Given the description of an element on the screen output the (x, y) to click on. 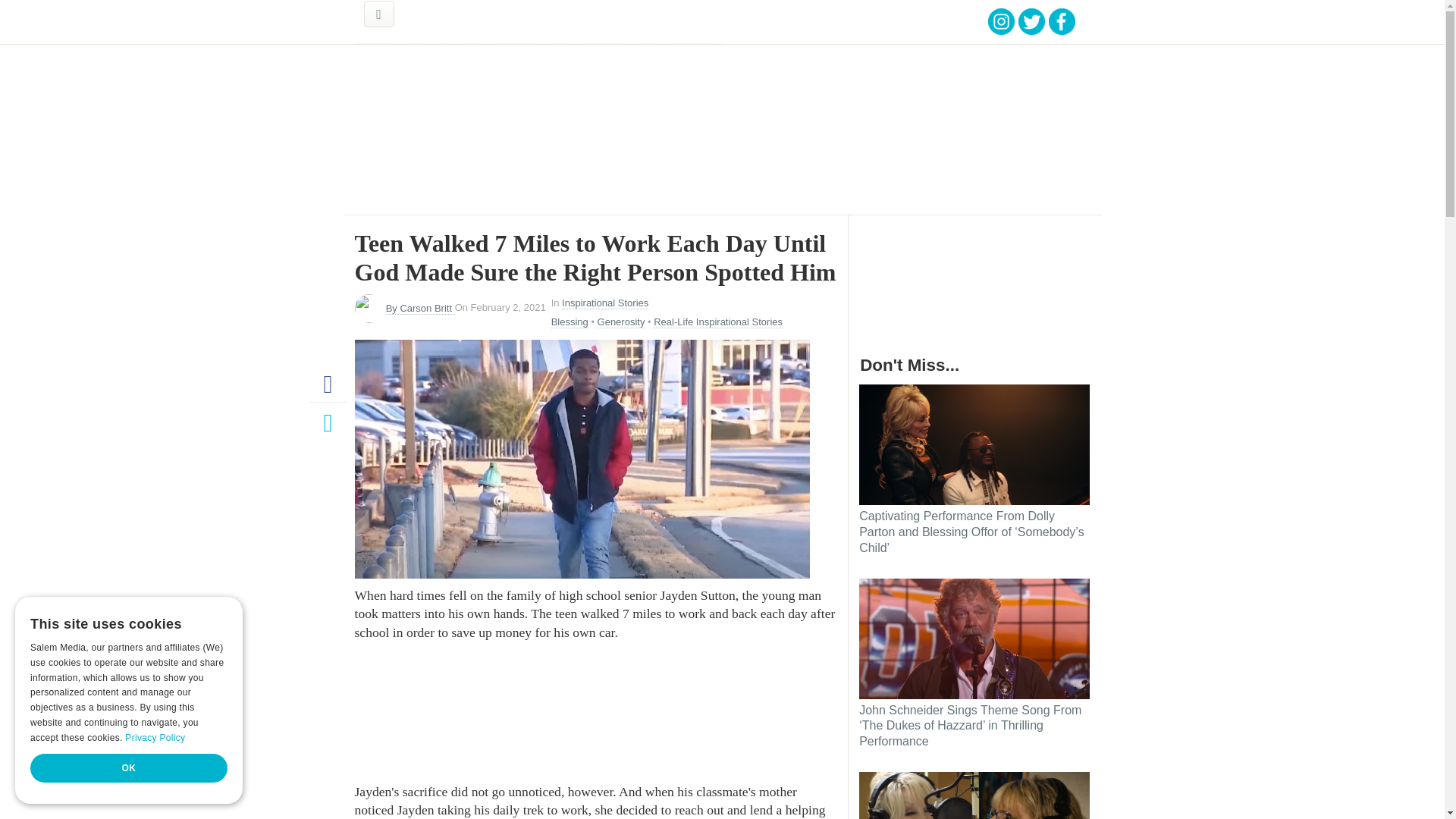
GodUpdates (472, 21)
By Carson Britt (419, 308)
